Given the description of an element on the screen output the (x, y) to click on. 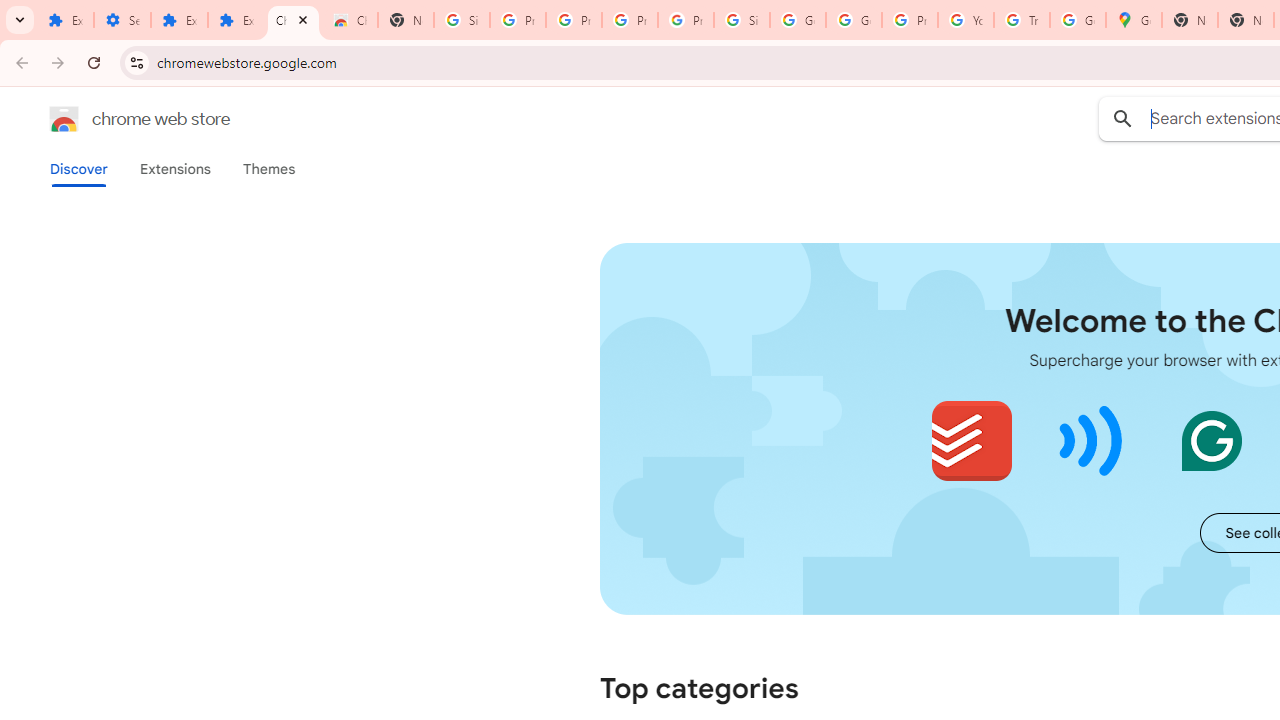
Google Maps (1133, 20)
Sign in - Google Accounts (461, 20)
Chrome Web Store (293, 20)
Chrome Web Store - Themes (349, 20)
New Tab (405, 20)
Extensions (65, 20)
Extensions (179, 20)
